Given the description of an element on the screen output the (x, y) to click on. 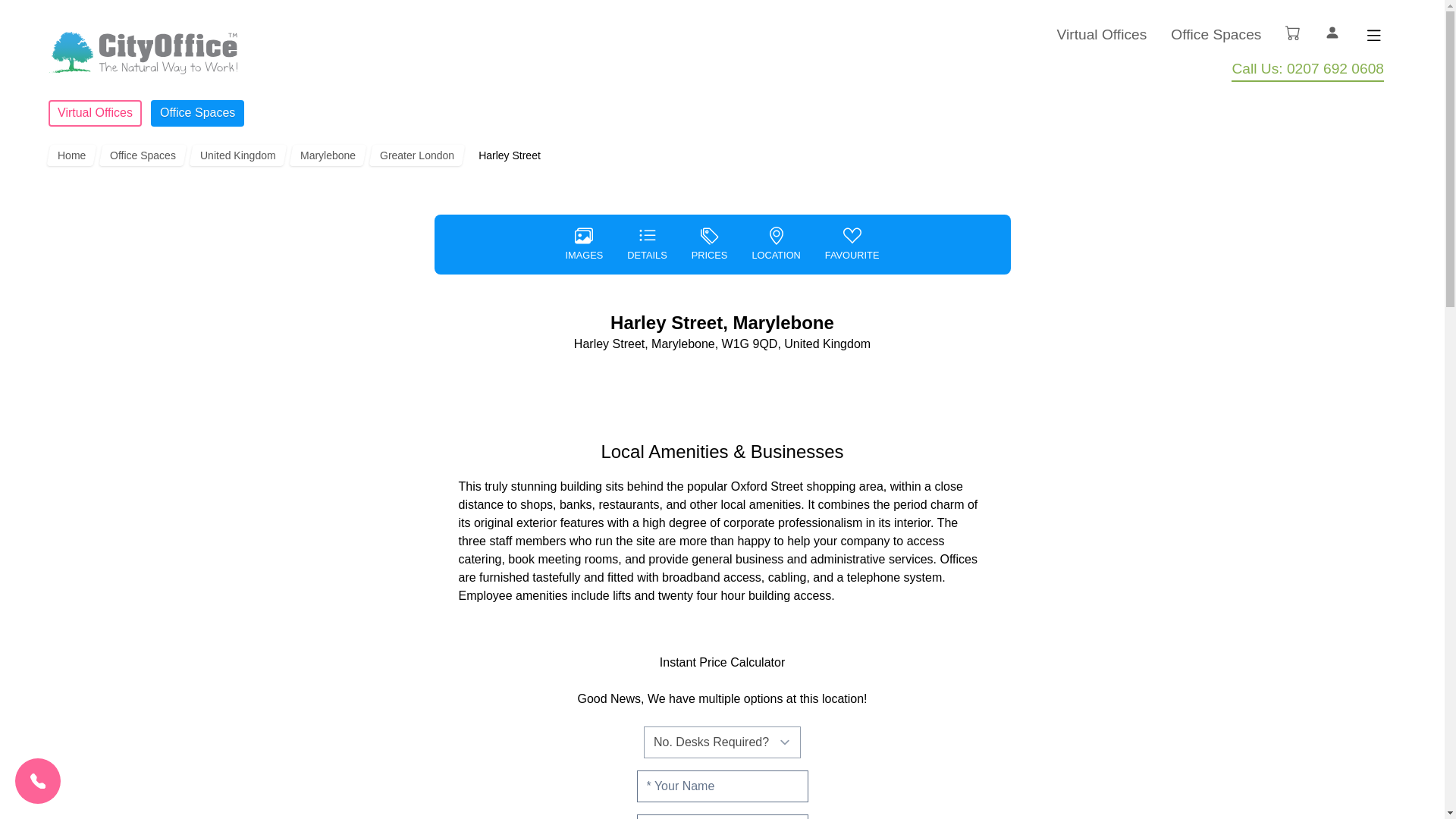
Office Spaces (141, 155)
Office Spaces (1215, 34)
Home (69, 155)
Virtual Offices (94, 112)
Office Spaces (197, 112)
Marylebone (325, 155)
Virtual Offices (1102, 34)
United Kingdom (236, 155)
Your City Office Home Page (142, 52)
Virtual Offices (94, 112)
